Given the description of an element on the screen output the (x, y) to click on. 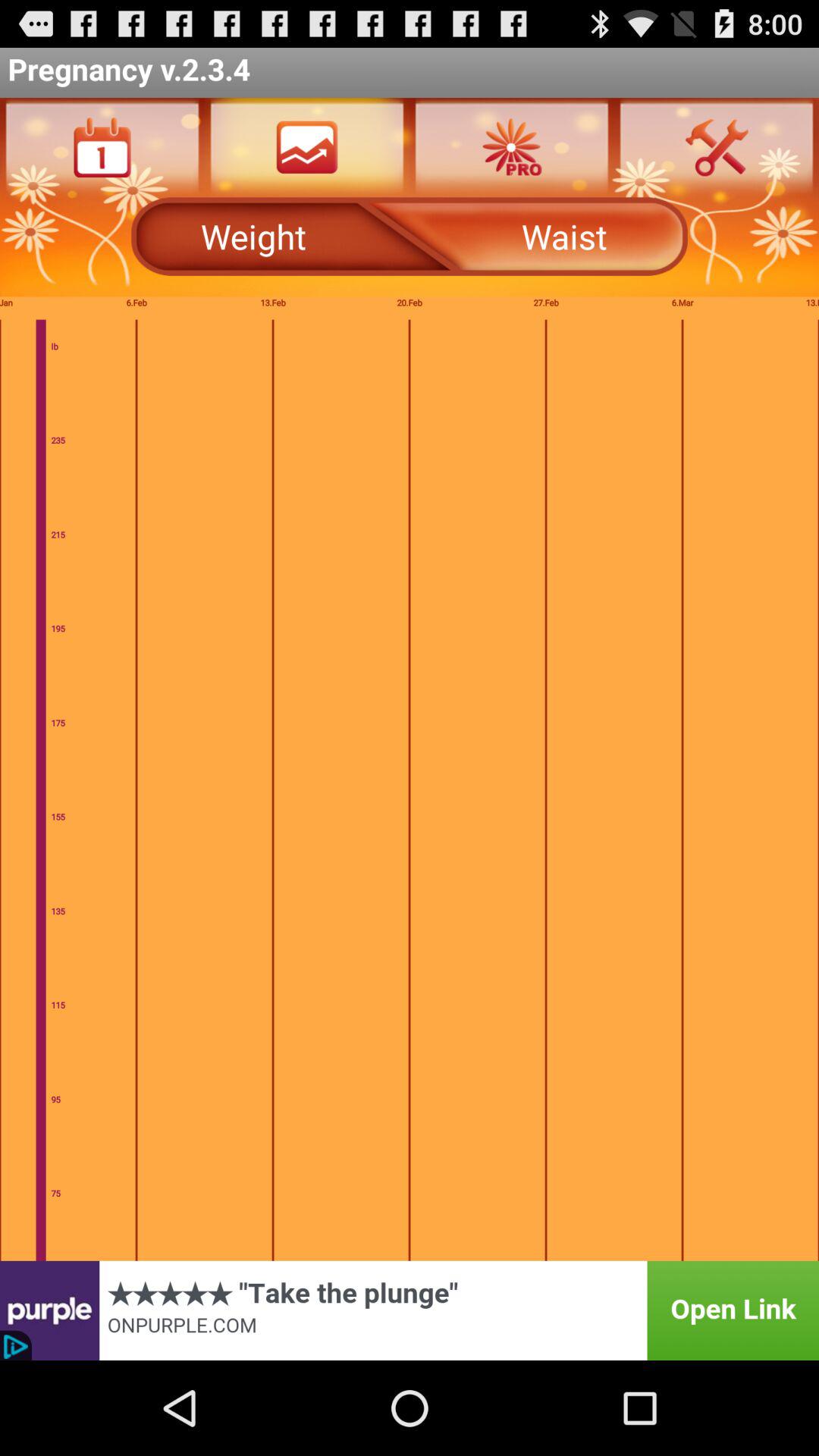
advertisement (409, 1310)
